Given the description of an element on the screen output the (x, y) to click on. 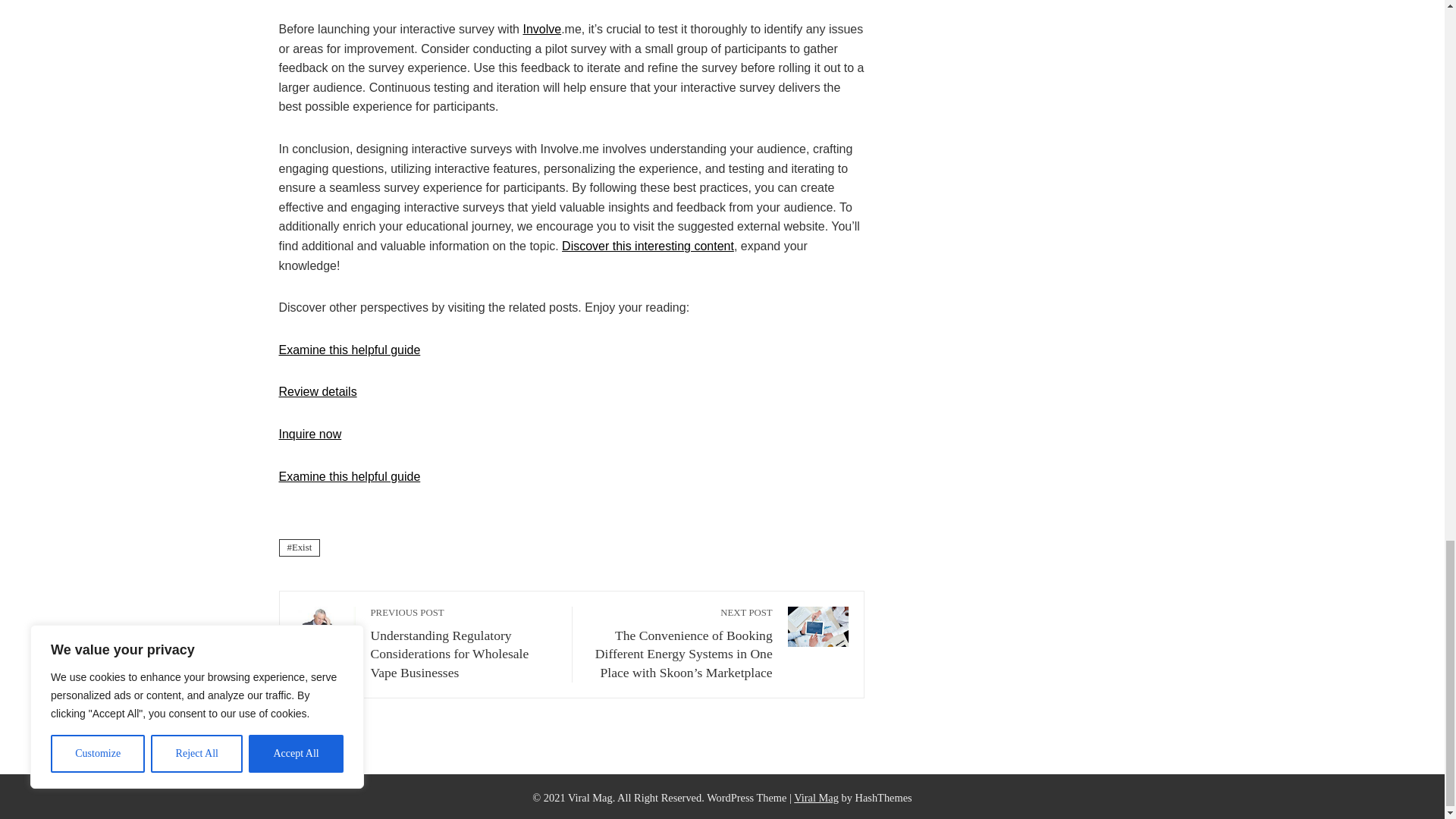
Download Viral News (815, 797)
Inquire now (310, 433)
Exist (299, 547)
Discover this interesting content (647, 245)
Review details (317, 391)
Examine this helpful guide (349, 476)
Involve (541, 29)
Examine this helpful guide (349, 349)
